Given the description of an element on the screen output the (x, y) to click on. 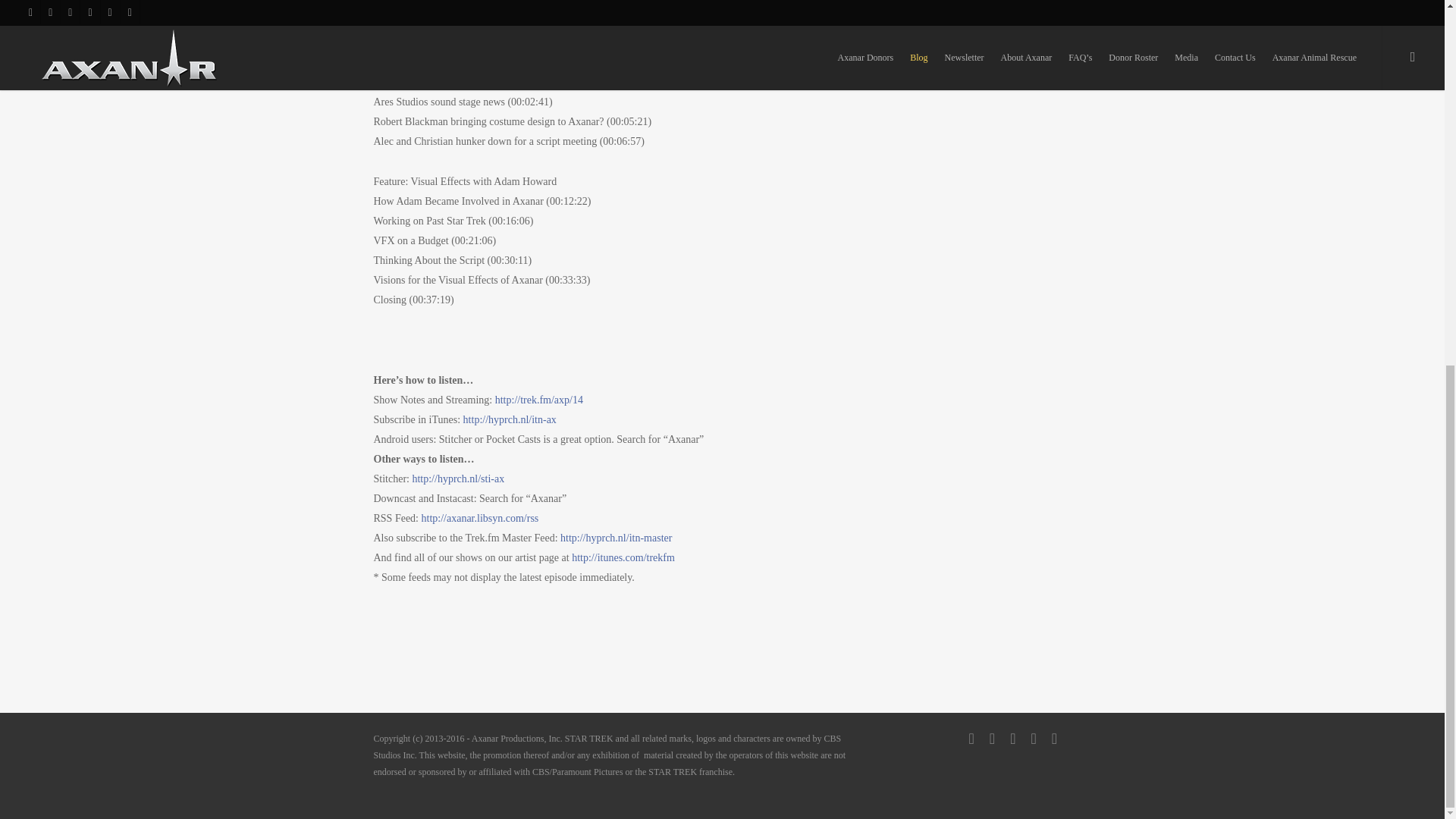
Privacy Policy  (43, 803)
